Given the description of an element on the screen output the (x, y) to click on. 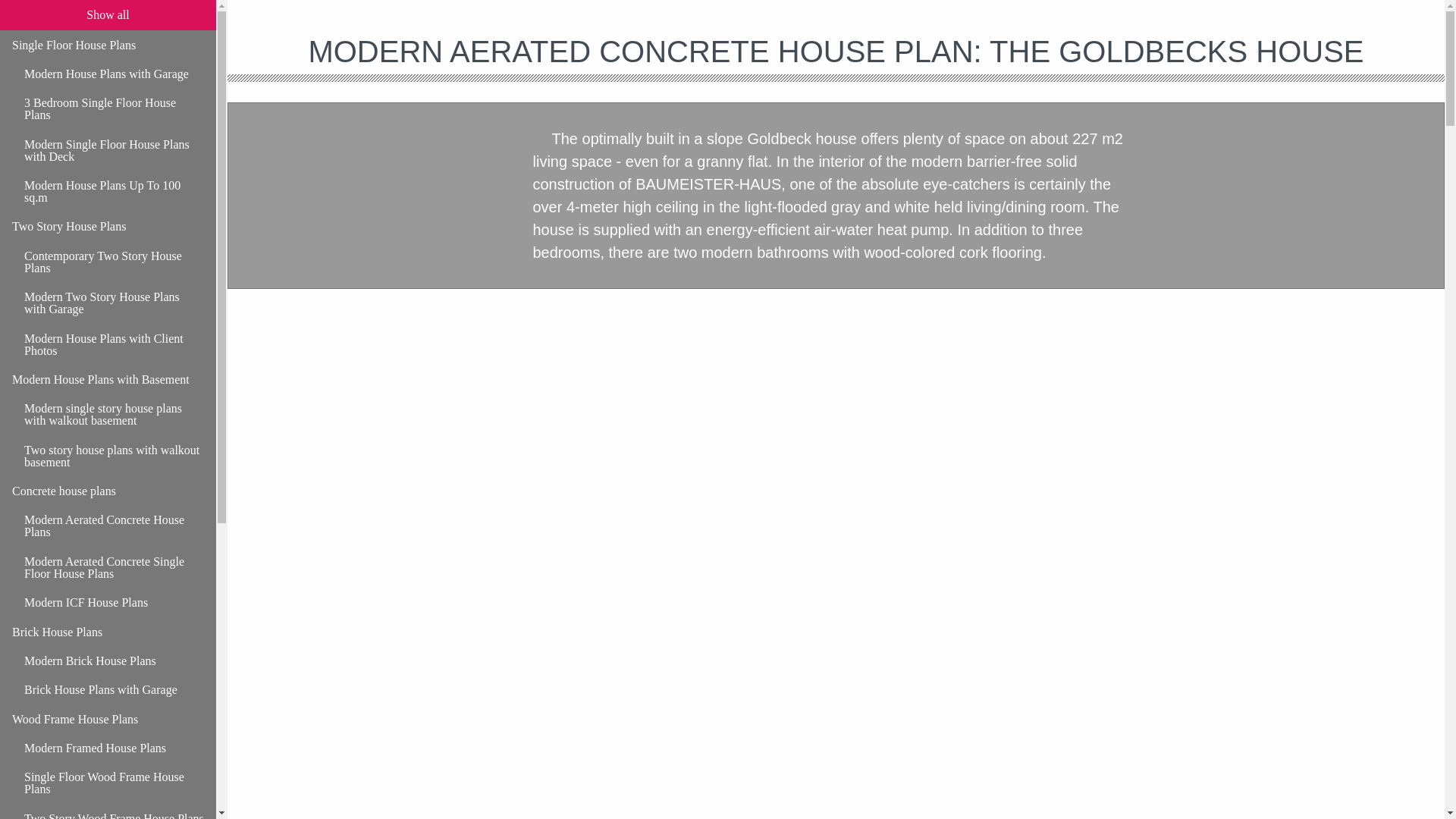
Single Floor House Plans (107, 44)
Modern Single Floor House Plans with Deck (113, 150)
Modern House Plans with Client Photos (113, 343)
Single Floor Wood Frame House Plans (113, 782)
Modern Aerated Concrete Single Floor House Plans (113, 567)
Modern Brick House Plans (113, 661)
Two story house plans with walkout basement (113, 454)
Show all (107, 15)
Modern House Plans with Garage (113, 73)
Two Story Wood Frame House Plans (113, 811)
